Given the description of an element on the screen output the (x, y) to click on. 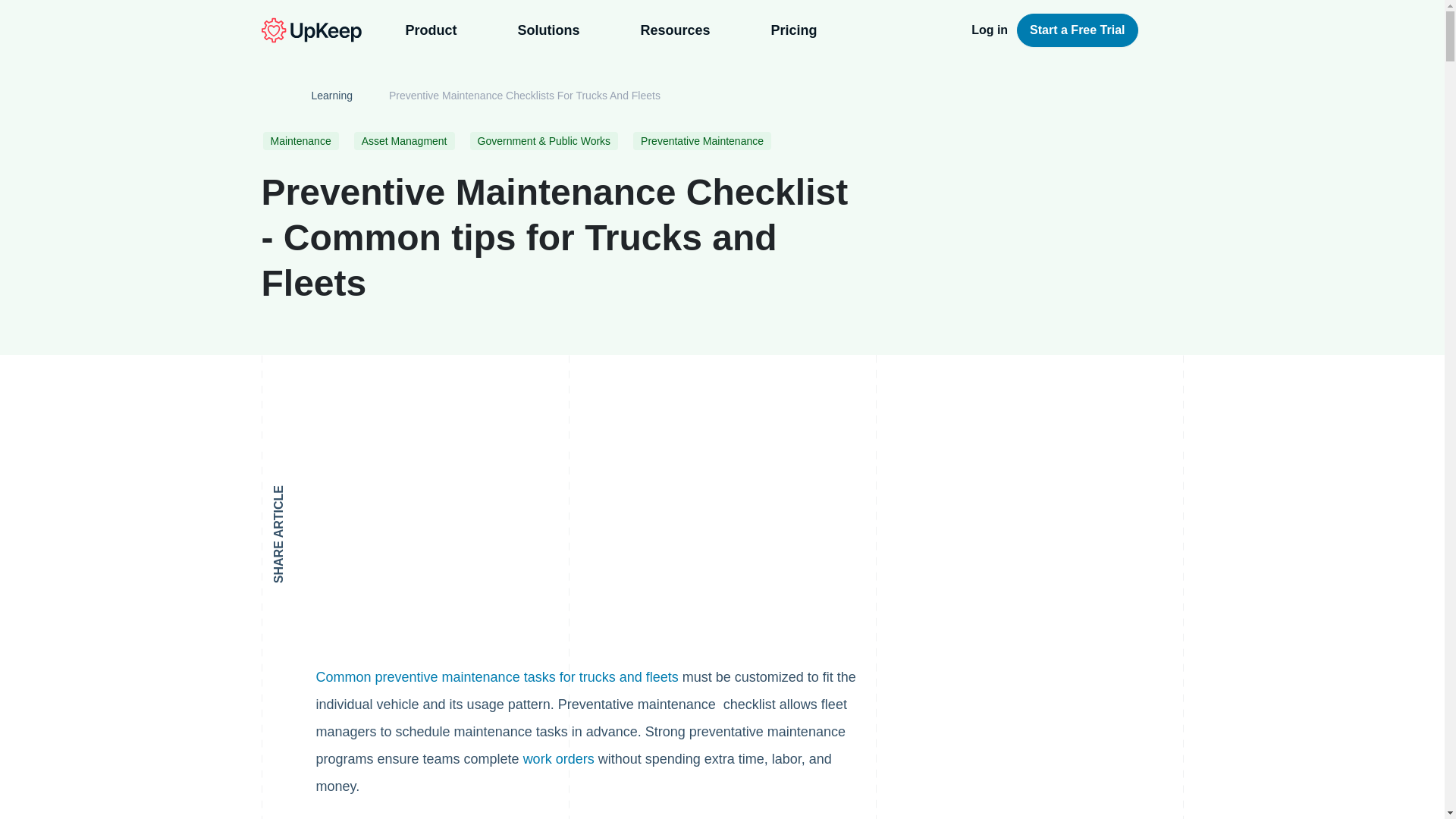
Start a Free Trial (1076, 29)
Pricing (800, 30)
Solutions (565, 30)
Maintenance (299, 140)
work orders (558, 758)
Asset Managment (404, 140)
Learning (331, 95)
YouTube video player (527, 522)
Resources (692, 30)
Preventive Maintenance Checklists For Trucks And Fleets (524, 95)
